Given the description of an element on the screen output the (x, y) to click on. 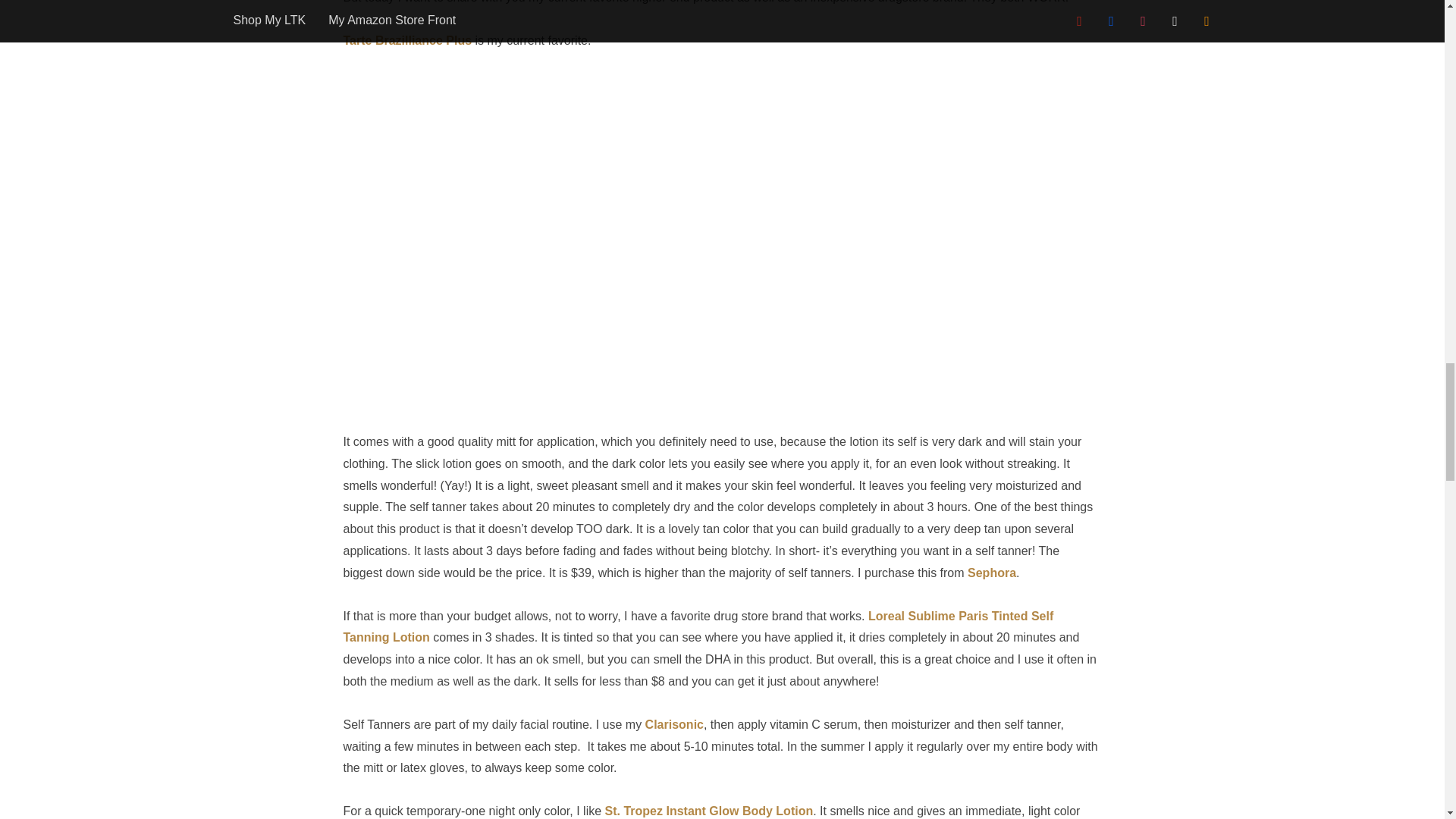
Tarte Brazilliance Plus (406, 40)
St. Tropez Instant Glow Body Lotion (709, 810)
Clarisonic (674, 724)
Loreal Sublime Paris Tinted Self Tanning Lotion (697, 626)
Sephora (992, 572)
